Given the description of an element on the screen output the (x, y) to click on. 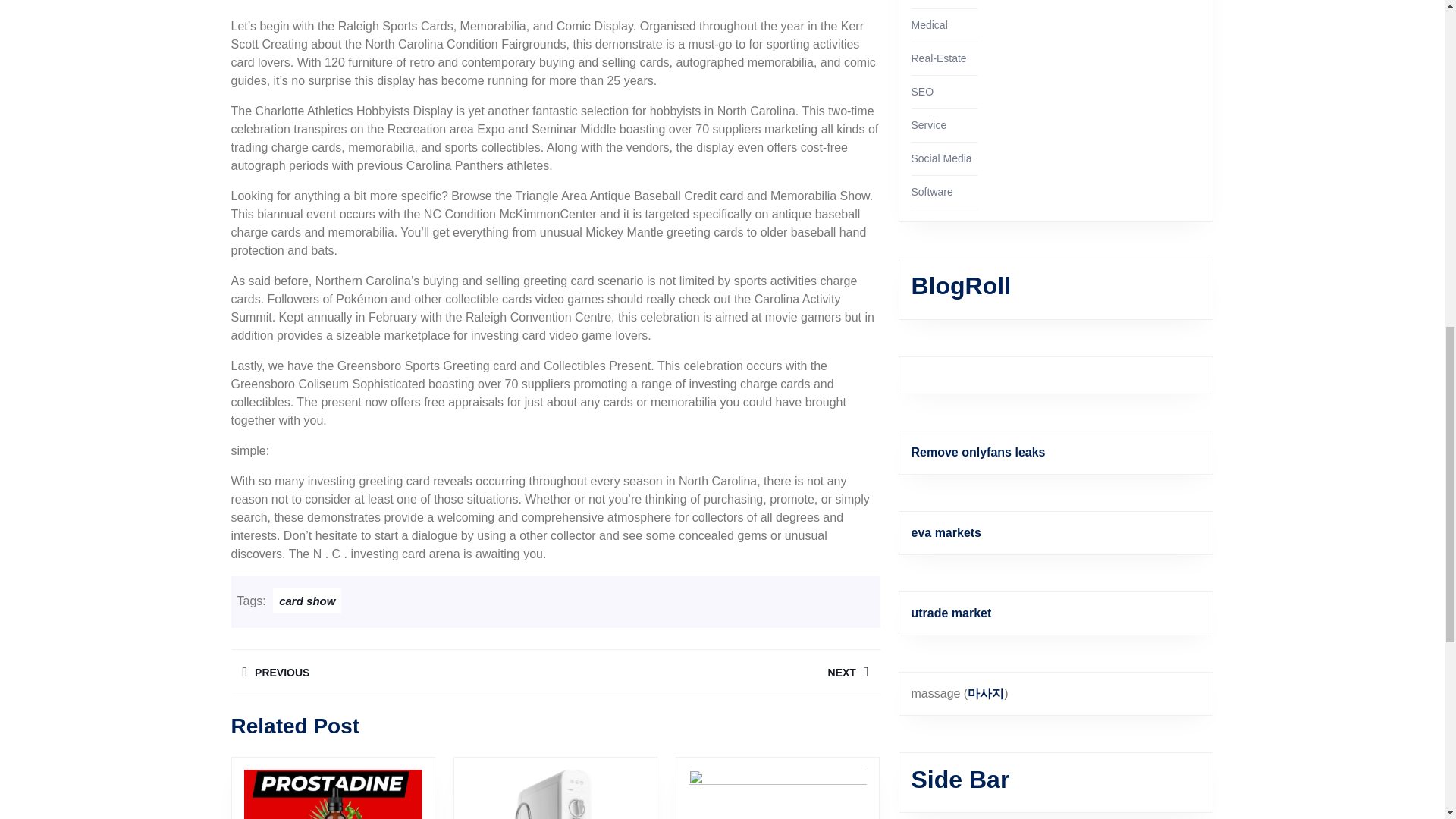
card show (306, 600)
